Given the description of an element on the screen output the (x, y) to click on. 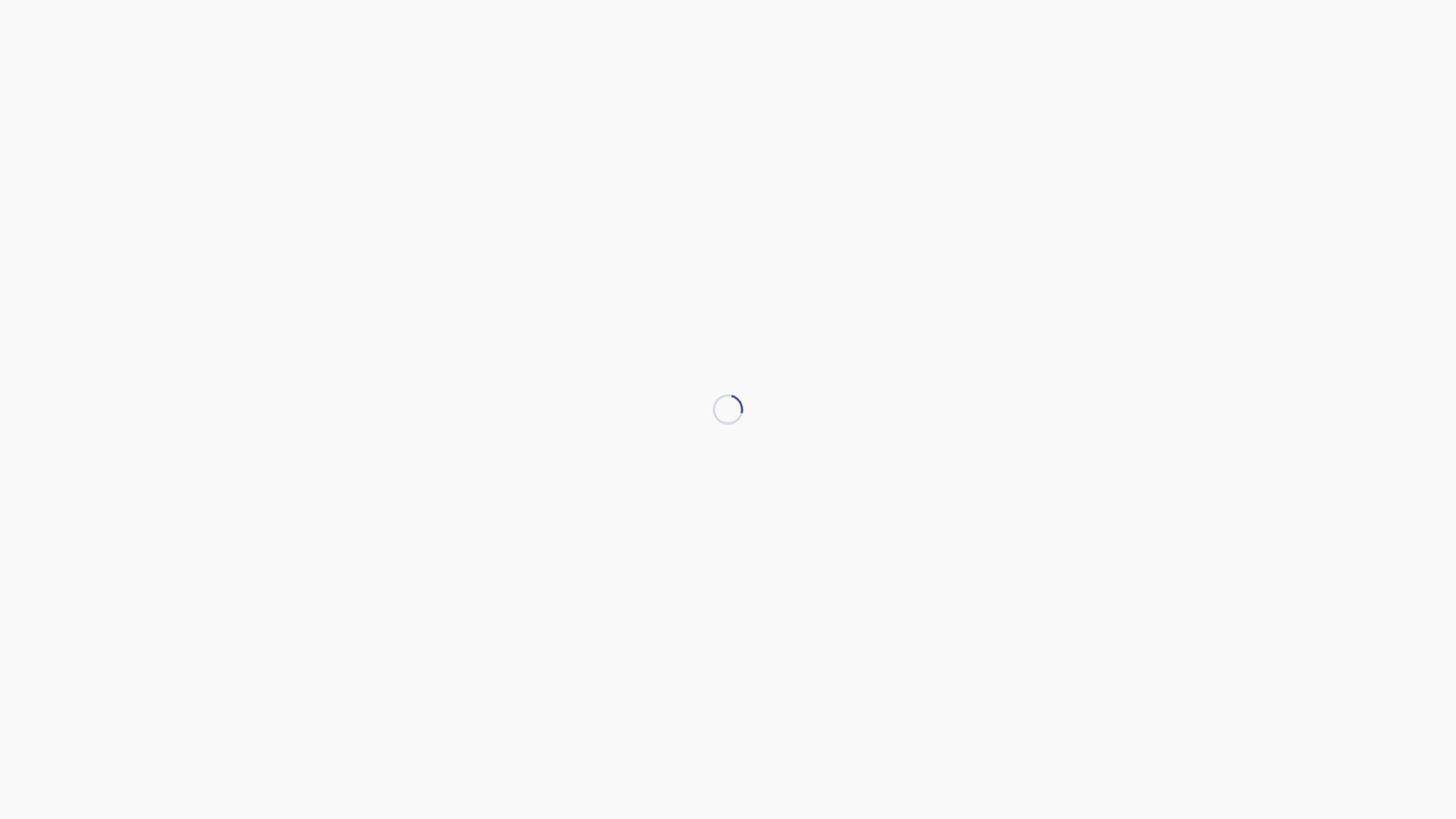
BLOG Element type: text (933, 38)
ABOUT Element type: text (843, 736)
Facebook Element type: text (764, 635)
CLIENT REVIEWS Element type: text (615, 38)
PRIVACY POLICY Element type: text (1129, 736)
0 Element type: text (669, 316)
DO YOU WANT TO APPLY FOR BAIL? Element type: text (559, 290)
DISCLAIMER Element type: text (1033, 736)
HOME Element type: text (534, 38)
SERVICES Element type: text (704, 38)
CLIENT REVIEWS Element type: text (691, 736)
Criminal Law Element type: text (614, 316)
SERVICES Element type: text (780, 736)
OUR PROCESS Element type: text (787, 38)
07 3181 4329 Element type: text (1106, 36)
CONTACT Element type: text (994, 38)
HOME Element type: text (611, 736)
CONTACT Element type: text (907, 736)
ABOUT US Element type: text (871, 38)
BLOG Element type: text (966, 736)
LinkedIn Element type: text (691, 635)
Twitter Element type: text (727, 635)
September 11, 2019 Element type: text (516, 316)
